Given the description of an element on the screen output the (x, y) to click on. 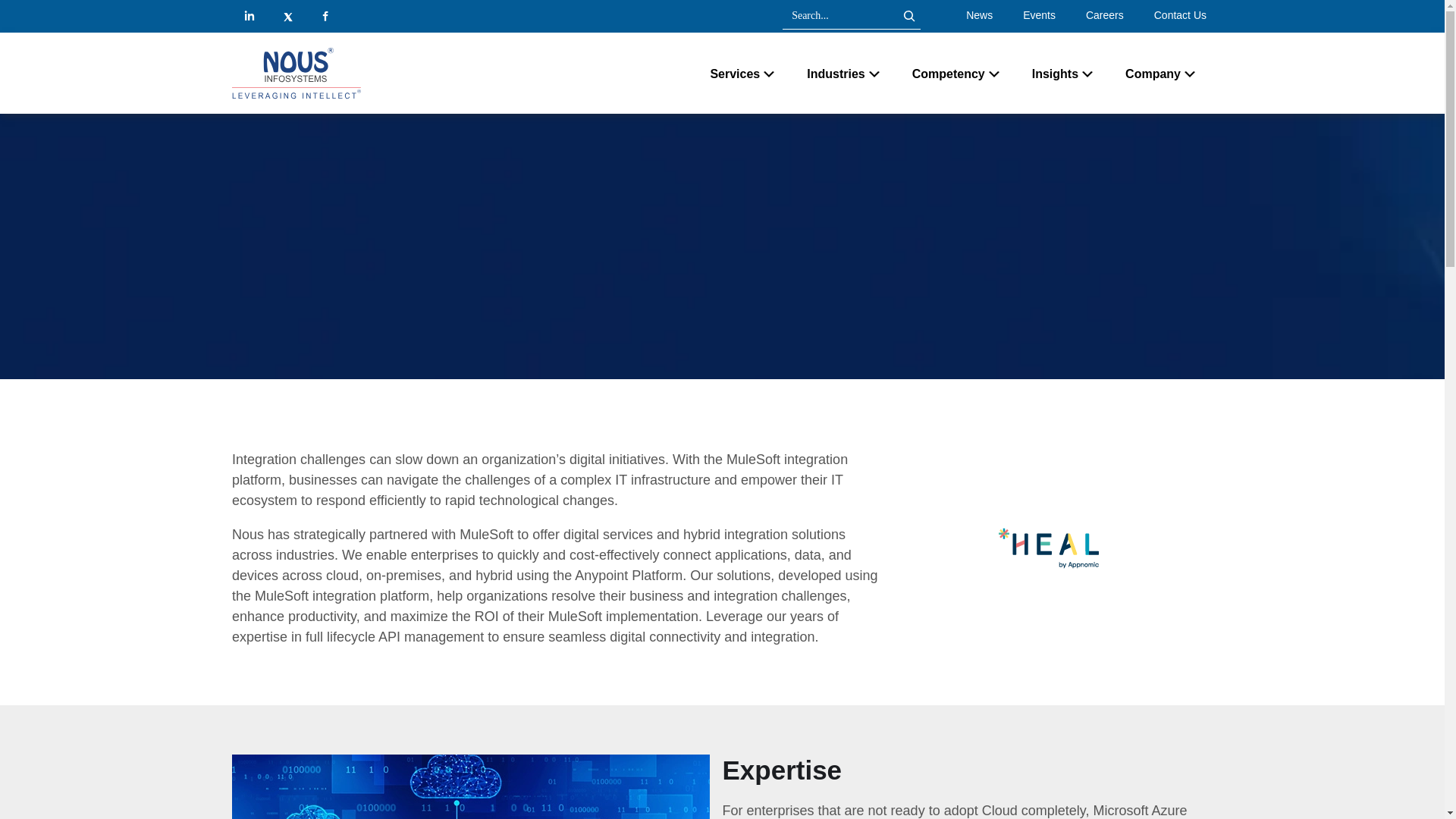
Careers (1104, 14)
Contact Us (1179, 14)
Events (1039, 14)
News (979, 14)
